Given the description of an element on the screen output the (x, y) to click on. 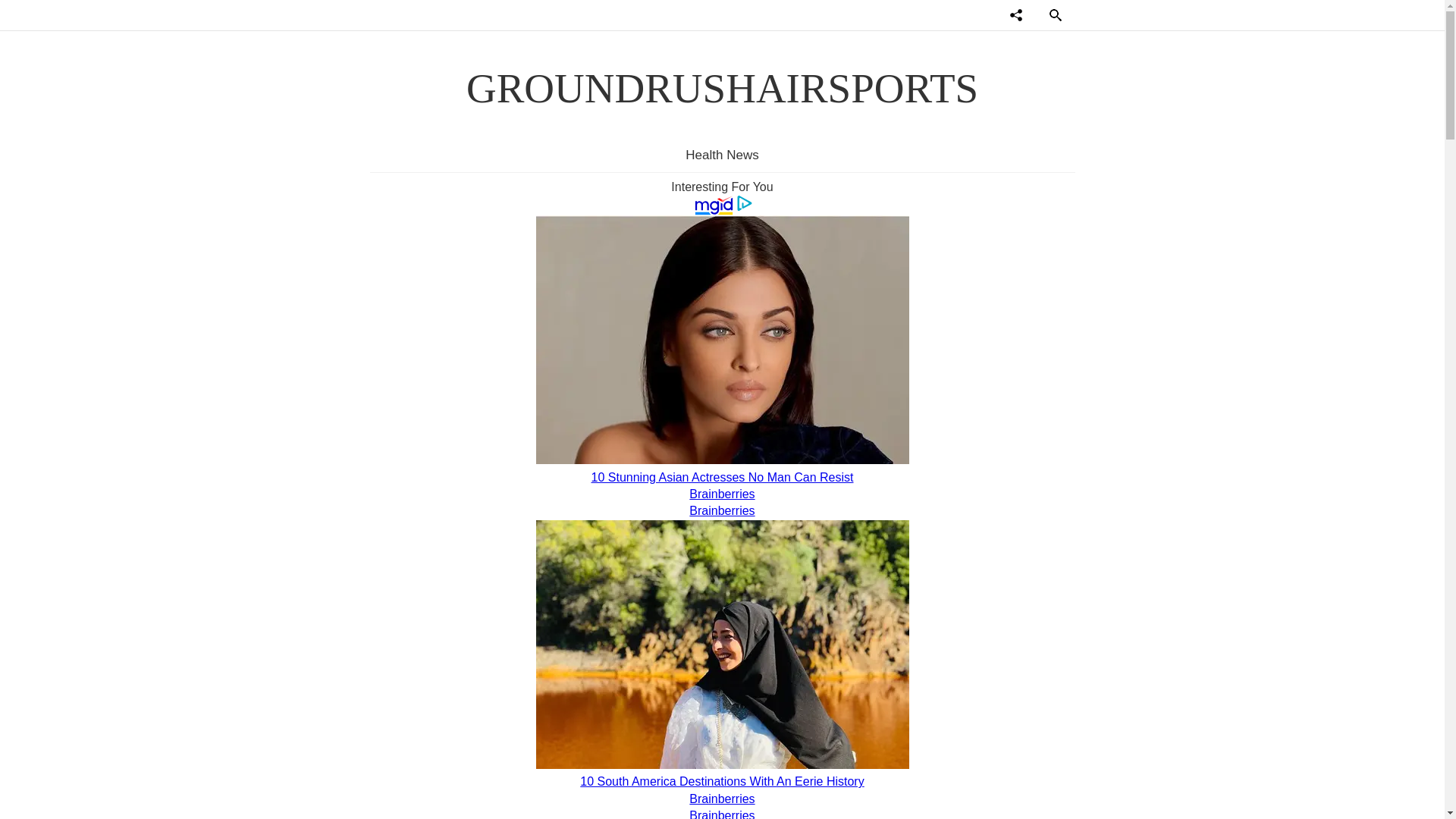
GROUNDRUSHAIRSPORTS (721, 88)
groundrushairsports (721, 88)
Health News (721, 154)
